Given the description of an element on the screen output the (x, y) to click on. 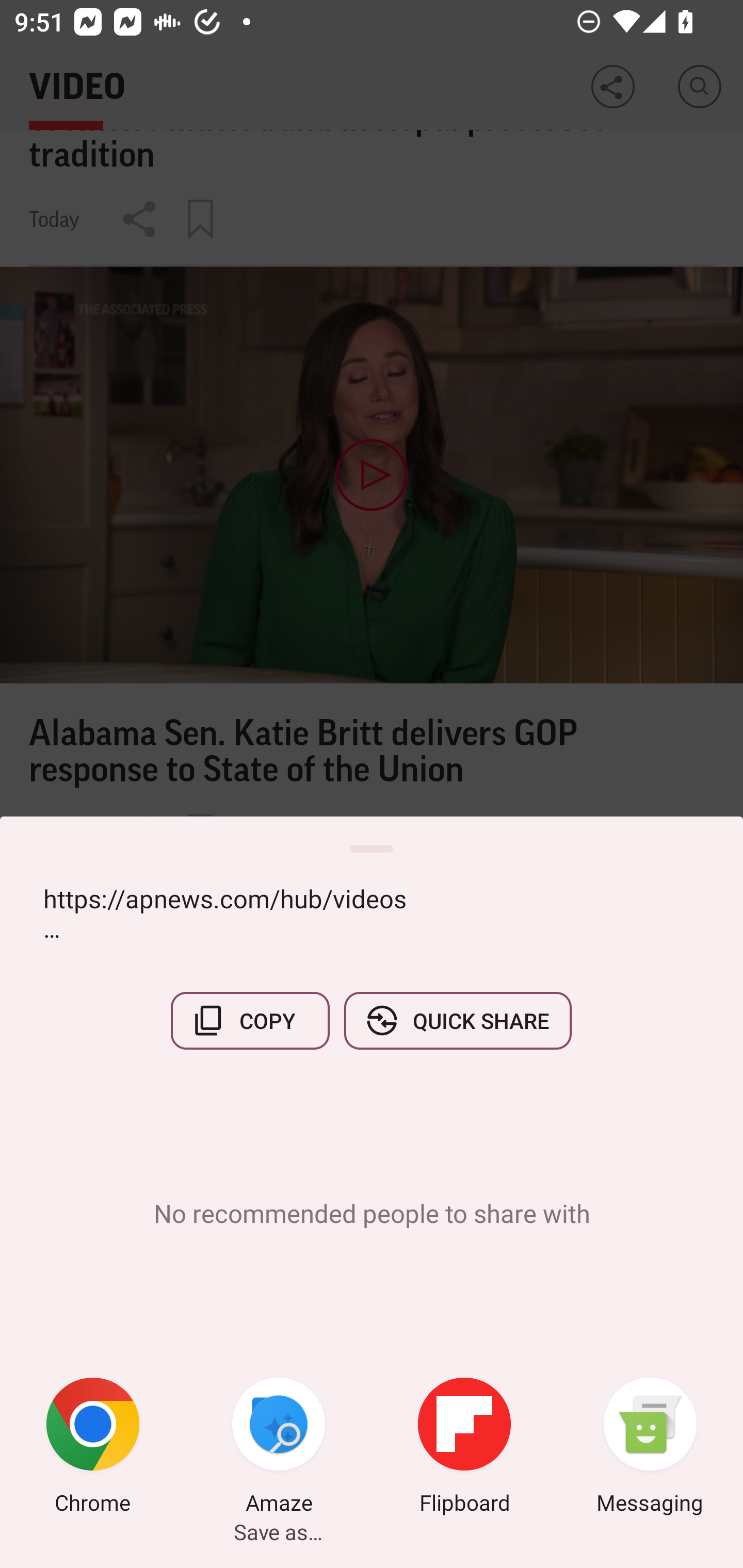
COPY (249, 1020)
QUICK SHARE (457, 1020)
Chrome (92, 1448)
Amaze Save as… (278, 1448)
Flipboard (464, 1448)
Messaging (650, 1448)
